Given the description of an element on the screen output the (x, y) to click on. 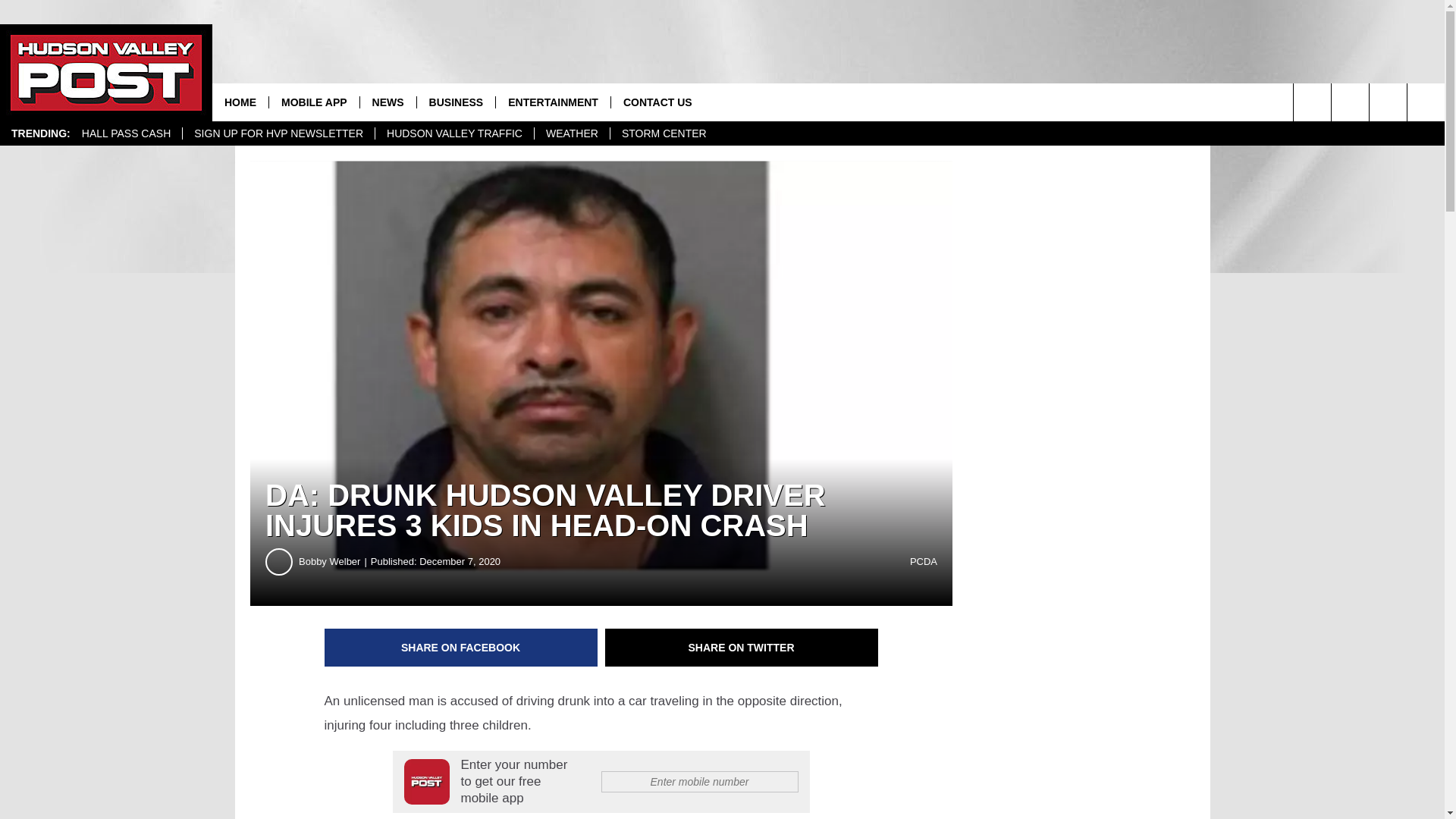
BUSINESS (456, 102)
NEWS (387, 102)
HALL PASS CASH (126, 133)
MOBILE APP (313, 102)
STORM CENTER (663, 133)
HOME (239, 102)
CONTACT US (657, 102)
ENTERTAINMENT (552, 102)
Share on Facebook (460, 647)
HUDSON VALLEY TRAFFIC (454, 133)
